Given the description of an element on the screen output the (x, y) to click on. 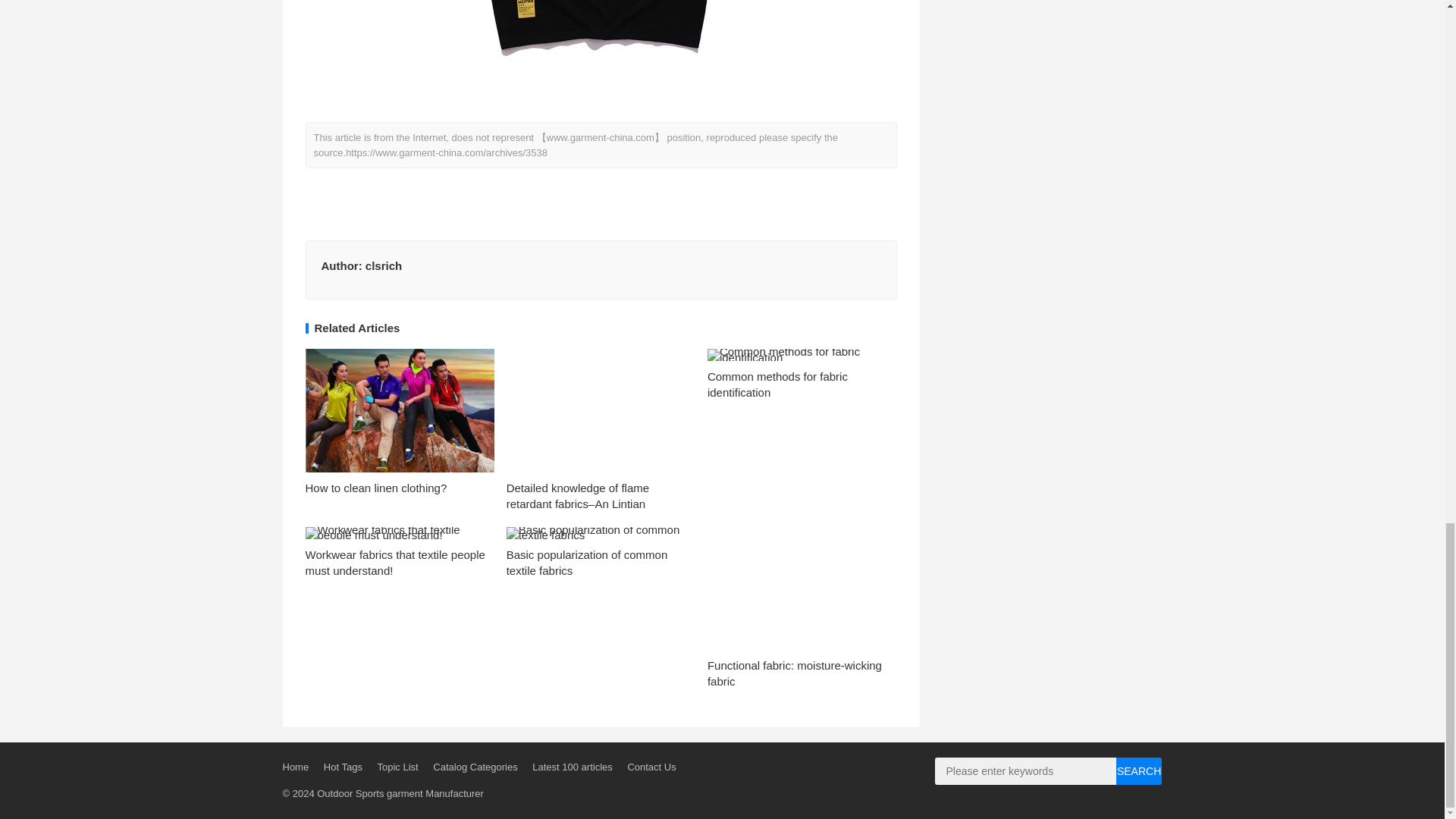
How to clean linen clothing? (375, 487)
Common methods for fabric identification (777, 384)
clsrich (383, 265)
Workwear fabrics that textile people must understand! (394, 562)
Basic popularization of common textile fabrics (587, 562)
Functional fabric: moisture-wicking fabric (794, 673)
